Given the description of an element on the screen output the (x, y) to click on. 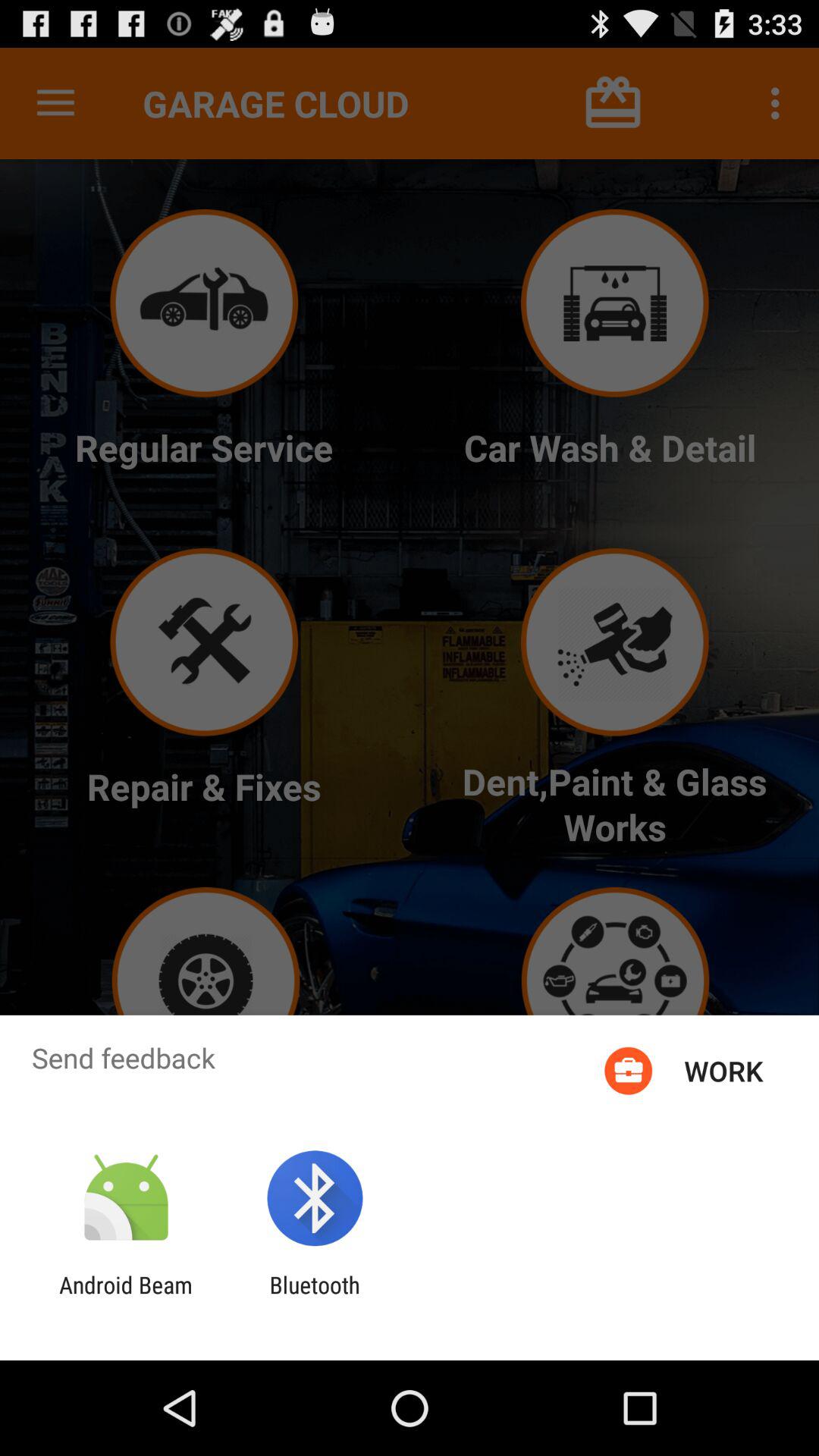
jump to android beam app (125, 1298)
